Given the description of an element on the screen output the (x, y) to click on. 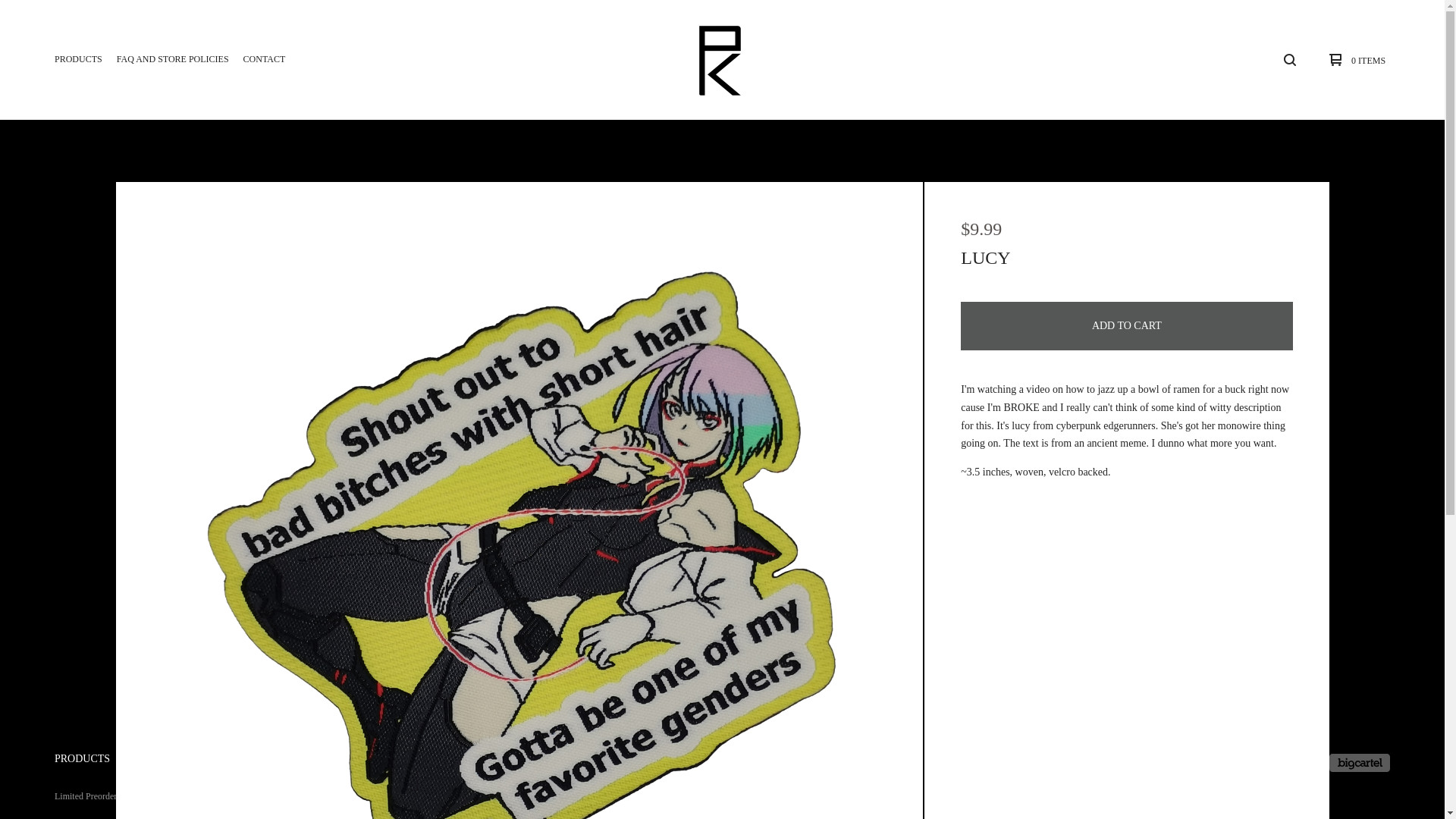
PRODUCTS (77, 59)
CONTACT (264, 59)
0 ITEMS (1353, 59)
Products (77, 59)
FAQ AND STORE POLICIES (172, 59)
